Given the description of an element on the screen output the (x, y) to click on. 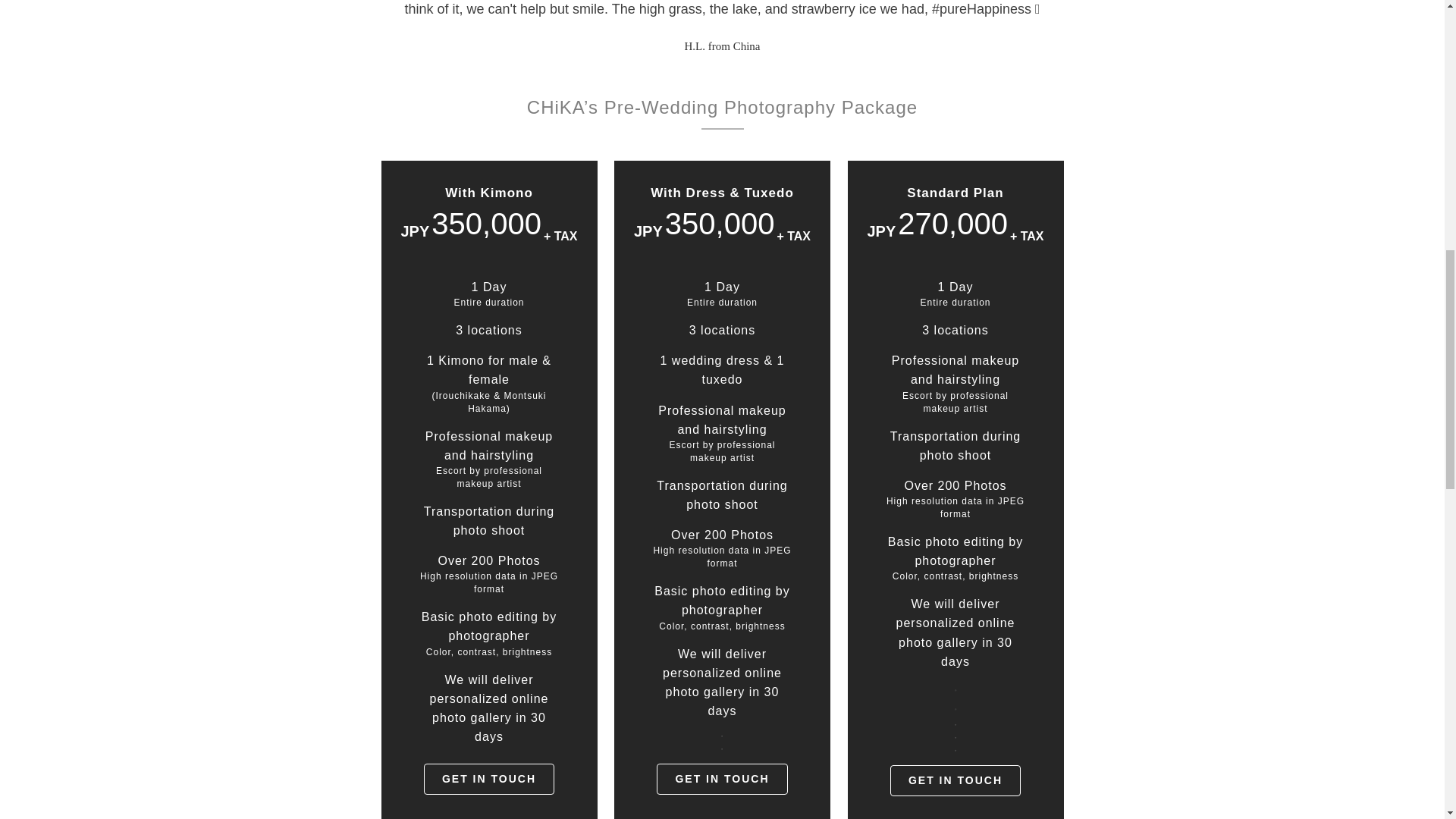
We will deliver personalized online photo gallery in 30 days (721, 682)
We will deliver personalized online photo gallery in 30 days (488, 707)
GET IN TOUCH (721, 778)
GET IN TOUCH (954, 780)
We will deliver personalized online photo gallery in 30 days (955, 632)
GET IN TOUCH (488, 778)
